Given the description of an element on the screen output the (x, y) to click on. 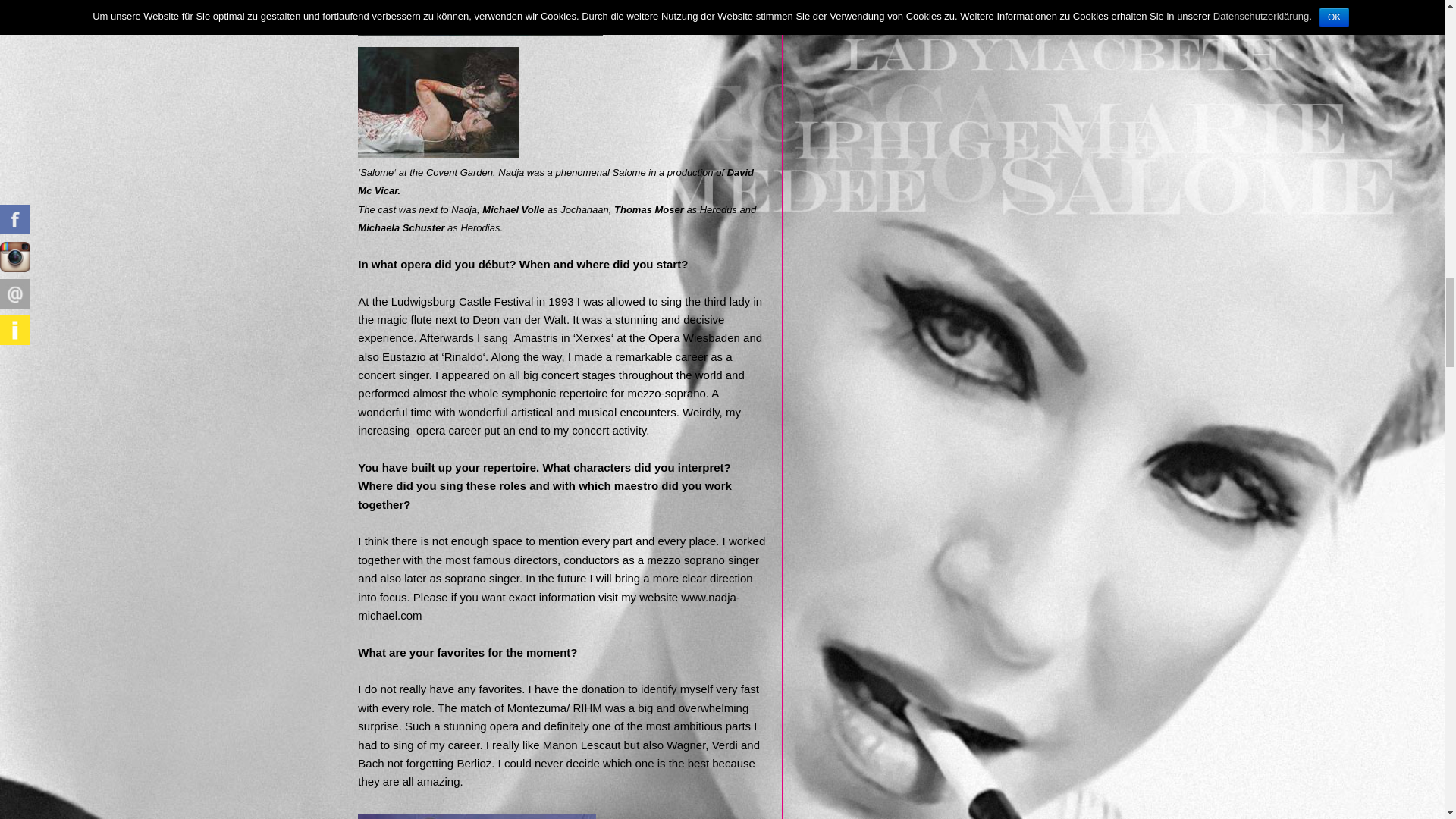
Salome (438, 102)
Salome (480, 18)
